Given the description of an element on the screen output the (x, y) to click on. 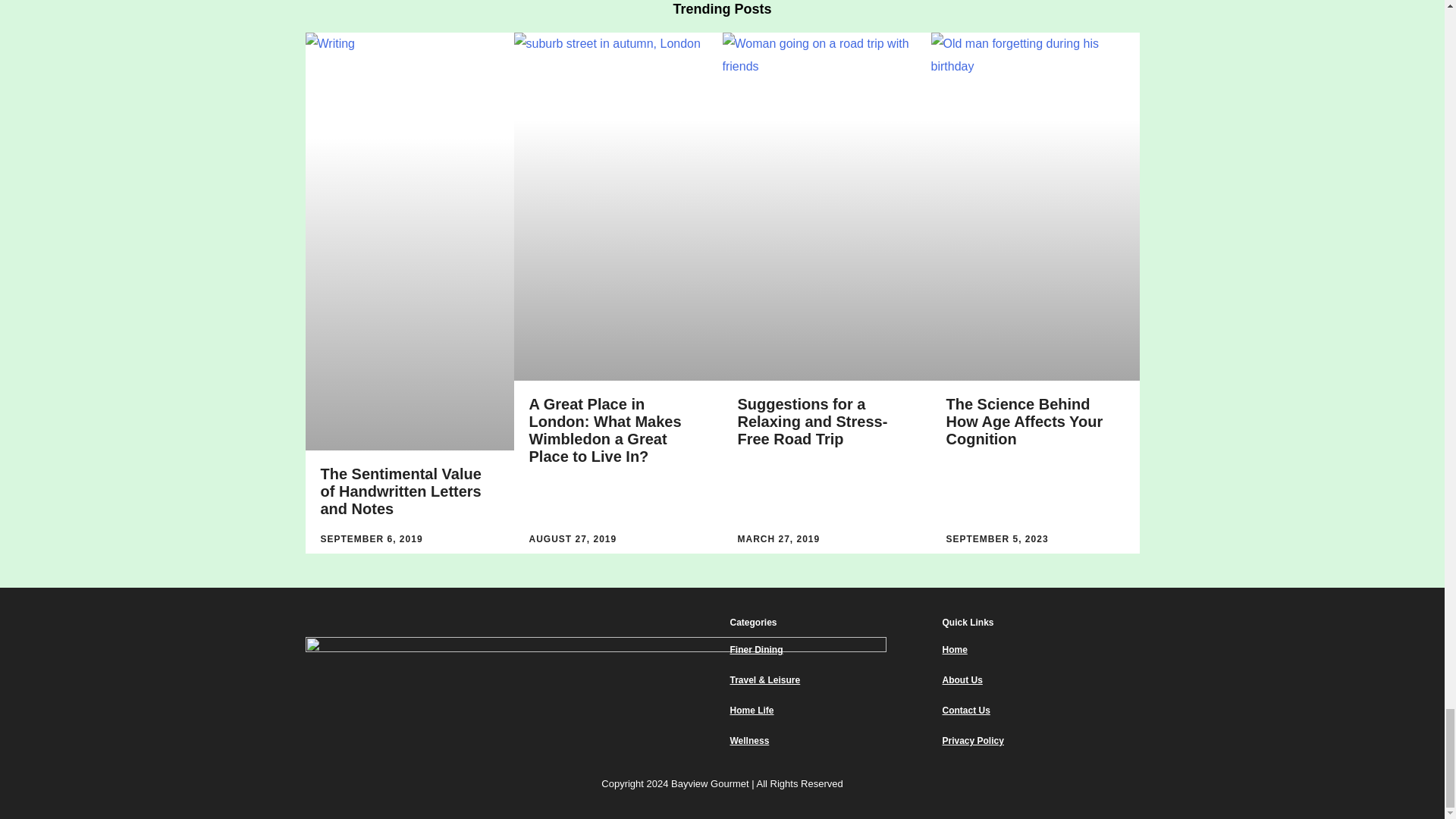
Home Life (827, 710)
The Sentimental Value of Handwritten Letters and Notes (400, 491)
Wellness (827, 740)
Home (1040, 649)
Finer Dining (827, 649)
Suggestions for a Relaxing and Stress-Free Road Trip (811, 421)
The Science Behind How Age Affects Your Cognition (1024, 421)
